Given the description of an element on the screen output the (x, y) to click on. 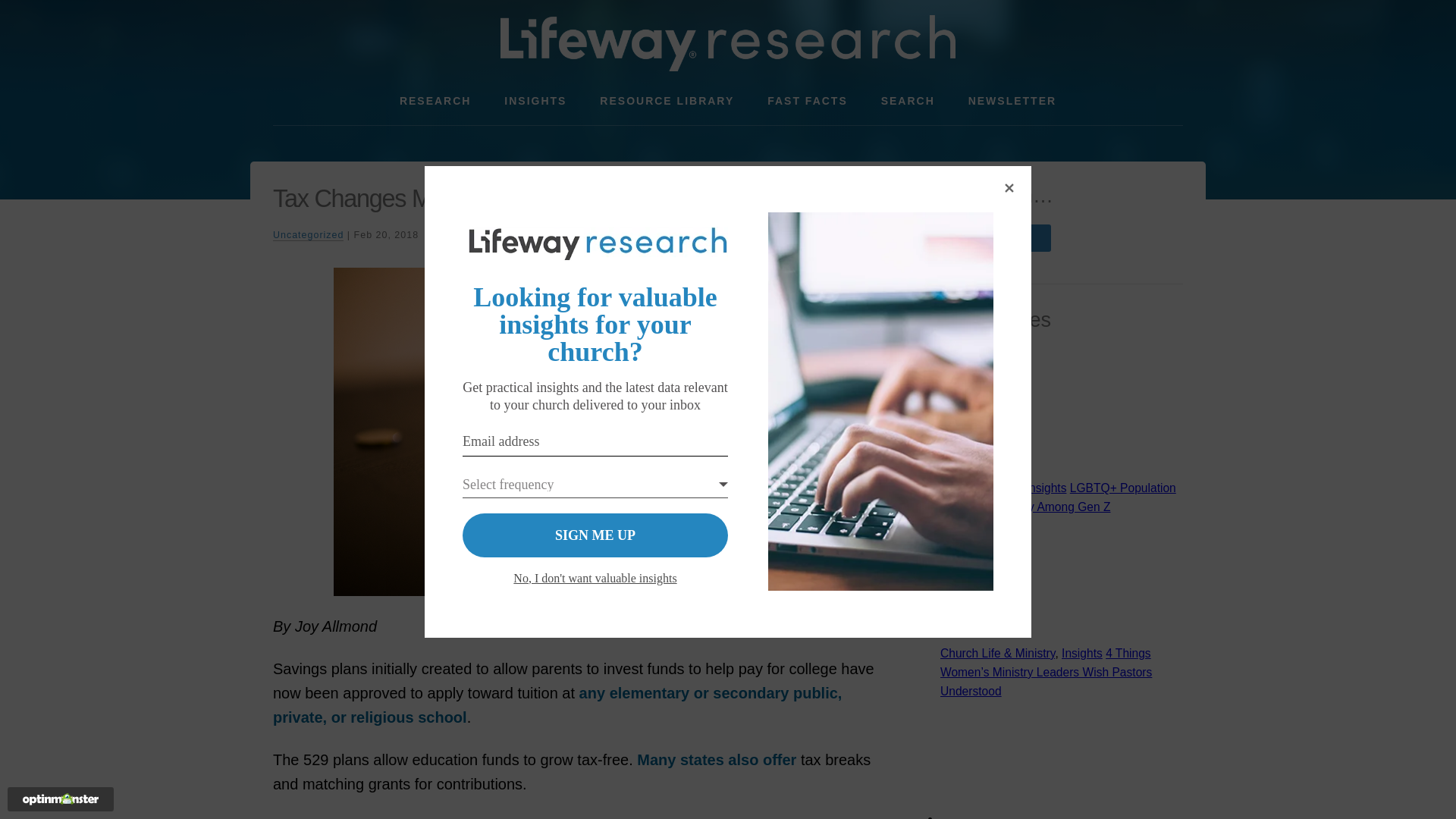
No, I don't want valuable insights (594, 577)
Uncategorized (308, 235)
FAST FACTS (807, 100)
SIGN ME UP (595, 534)
INSIGHTS (534, 100)
RESOURCE LIBRARY (667, 100)
RESEARCH (435, 100)
Powered by OptinMonster (61, 799)
SIGN ME UP (595, 534)
Close (1009, 188)
SEARCH (908, 100)
NEWSLETTER (1012, 100)
Many states also offer (716, 759)
